Given the description of an element on the screen output the (x, y) to click on. 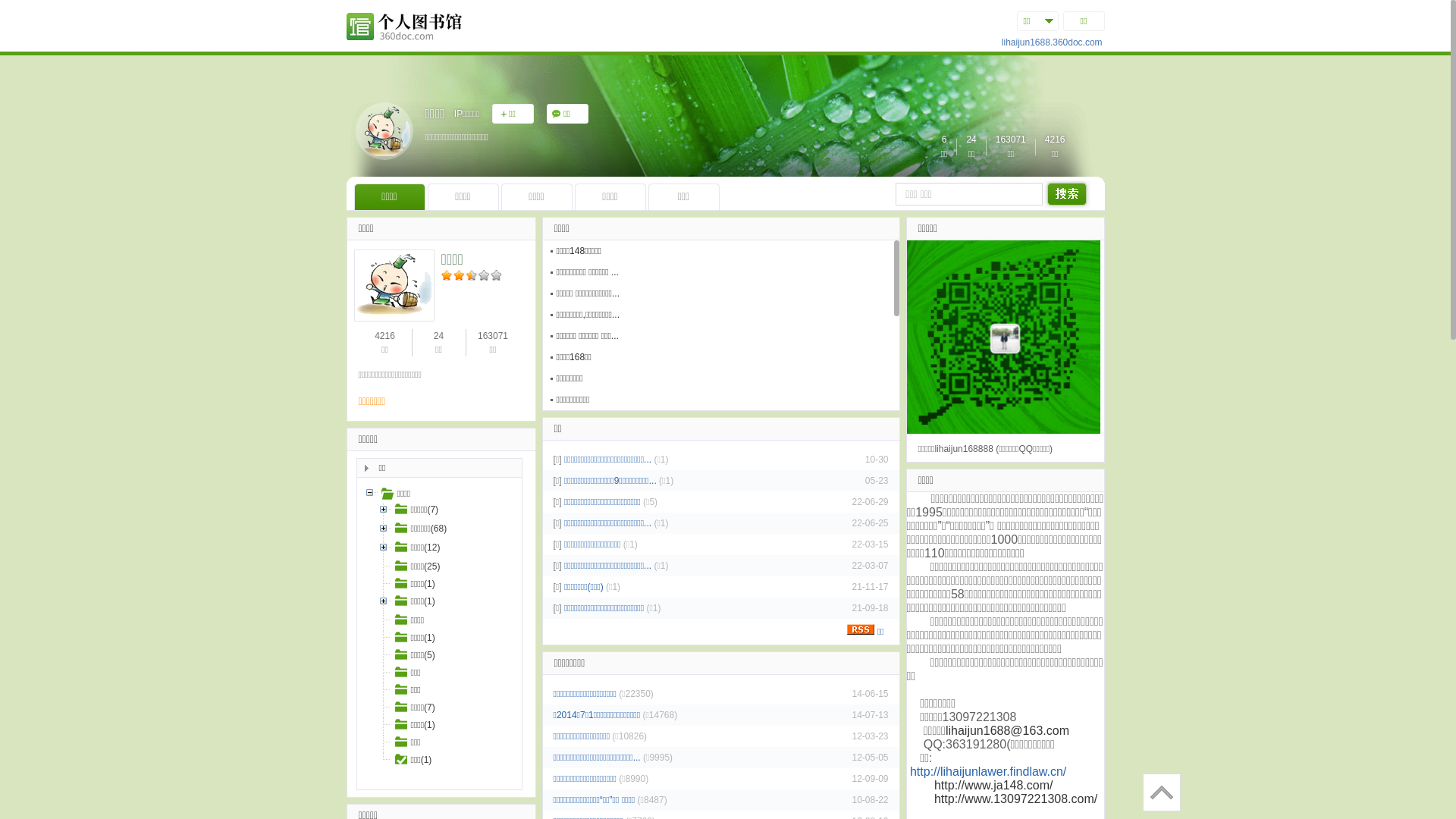
lihaijun1688@163.com Element type: text (1007, 730)
lihaijun1688.360doc.com Element type: text (1051, 42)
http://lihaijunlawer.findlaw.cn/ Element type: text (988, 771)
